Given the description of an element on the screen output the (x, y) to click on. 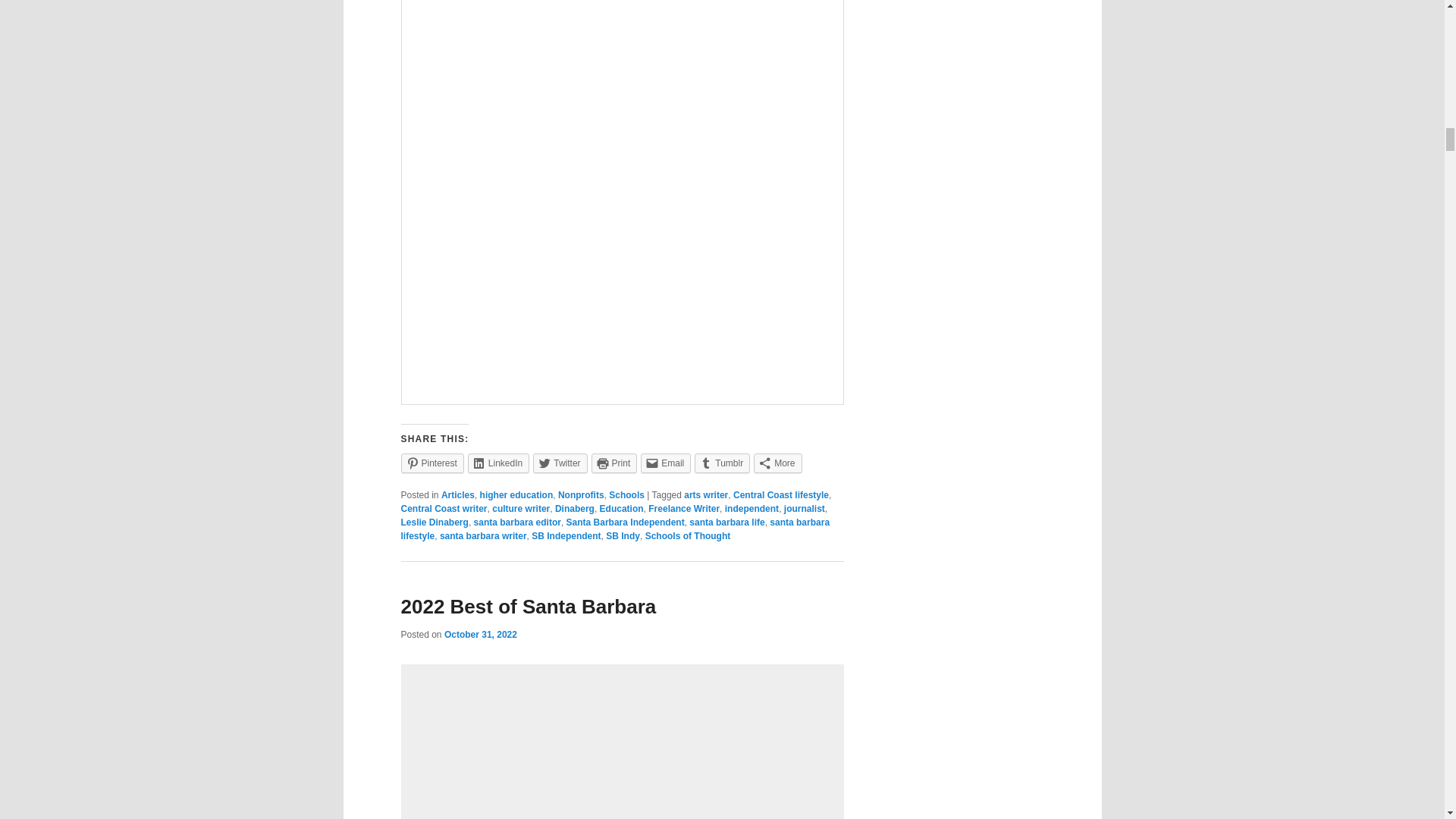
Print (614, 463)
Click to share on LinkedIn (498, 463)
Tumblr (721, 463)
Email (665, 463)
Nonprofits (580, 494)
More (778, 463)
3:26 pm (480, 634)
Articles (457, 494)
Click to share on Tumblr (721, 463)
Click to email this to a friend (665, 463)
Schools (626, 494)
Click to share on Twitter (559, 463)
Pinterest (431, 463)
Click to print (614, 463)
Click to share on Pinterest (431, 463)
